Given the description of an element on the screen output the (x, y) to click on. 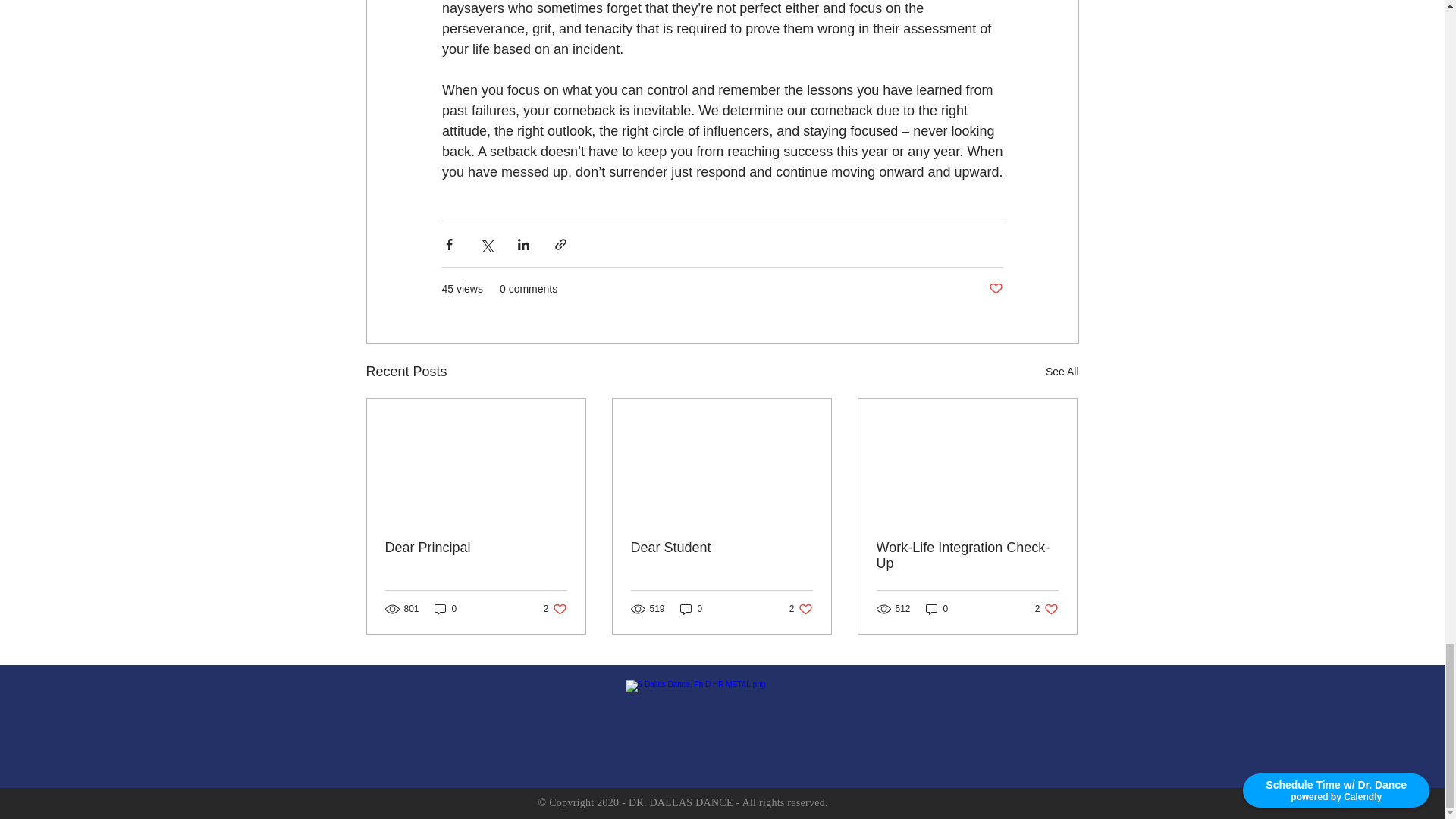
0 (555, 608)
Work-Life Integration Check-Up (445, 608)
See All (967, 555)
Dear Student (1061, 372)
Dear Principal (721, 547)
Post not marked as liked (476, 547)
0 (995, 289)
0 (937, 608)
